Given the description of an element on the screen output the (x, y) to click on. 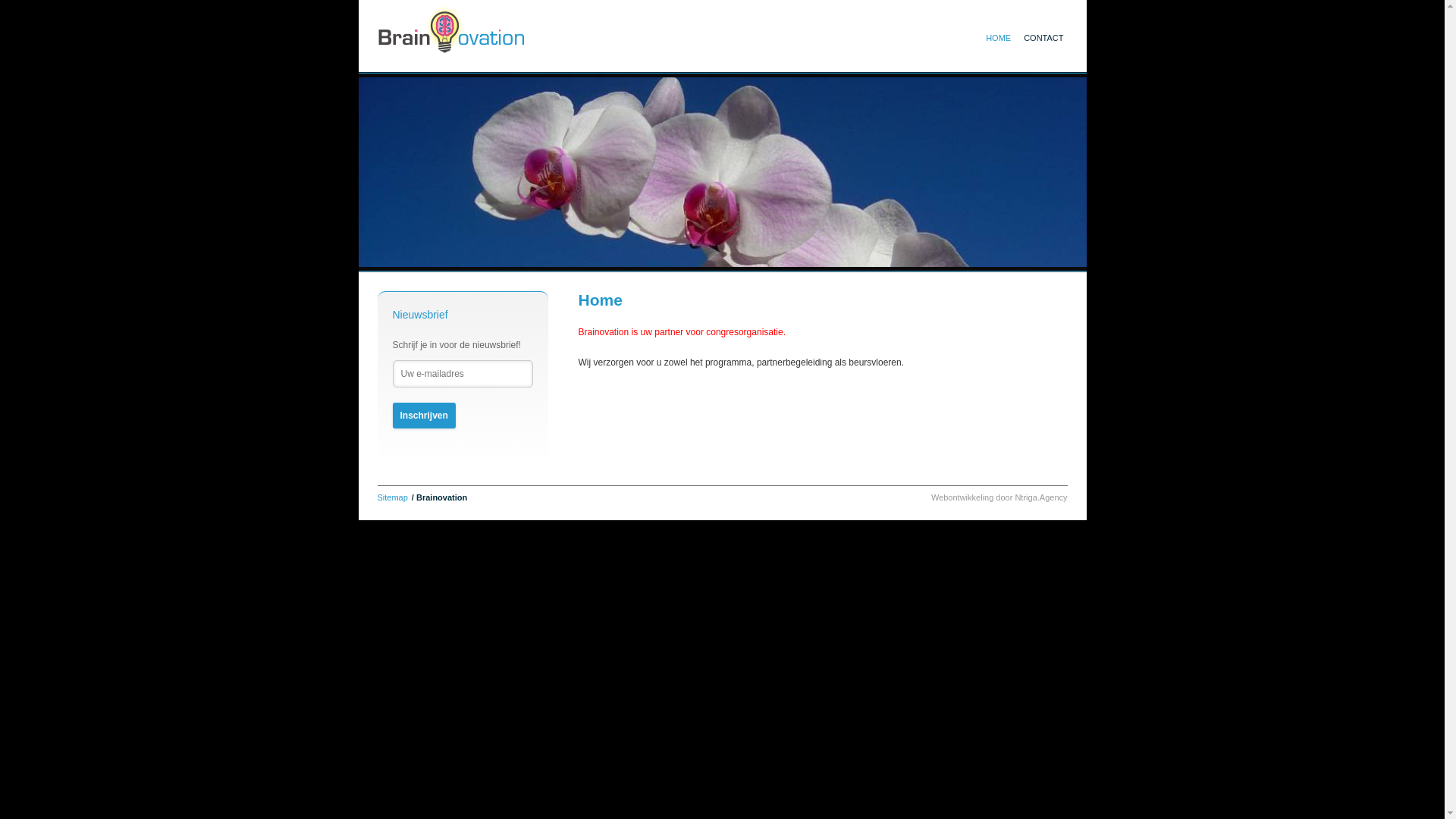
HOME Element type: text (995, 37)
Home Element type: hover (451, 28)
Ntriga.Agency Element type: text (1040, 497)
Webontwikkeling door Element type: text (972, 497)
Sitemap Element type: text (392, 497)
Inschrijven Element type: text (423, 415)
CONTACT Element type: text (1040, 37)
